Given the description of an element on the screen output the (x, y) to click on. 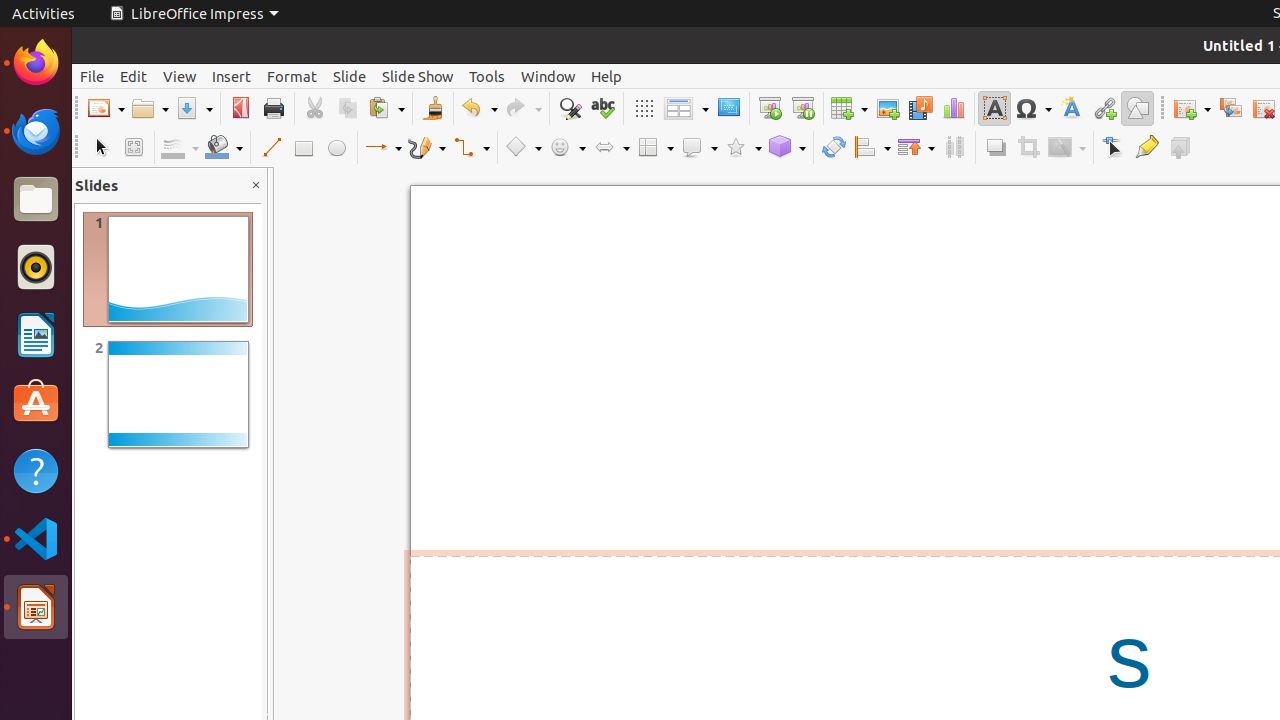
Start from First Slide Element type: push-button (769, 108)
Symbol Shapes Element type: push-button (567, 147)
Glue Points Element type: push-button (1146, 147)
New Element type: push-button (106, 108)
Toggle Extrusion Element type: push-button (1179, 147)
